Given the description of an element on the screen output the (x, y) to click on. 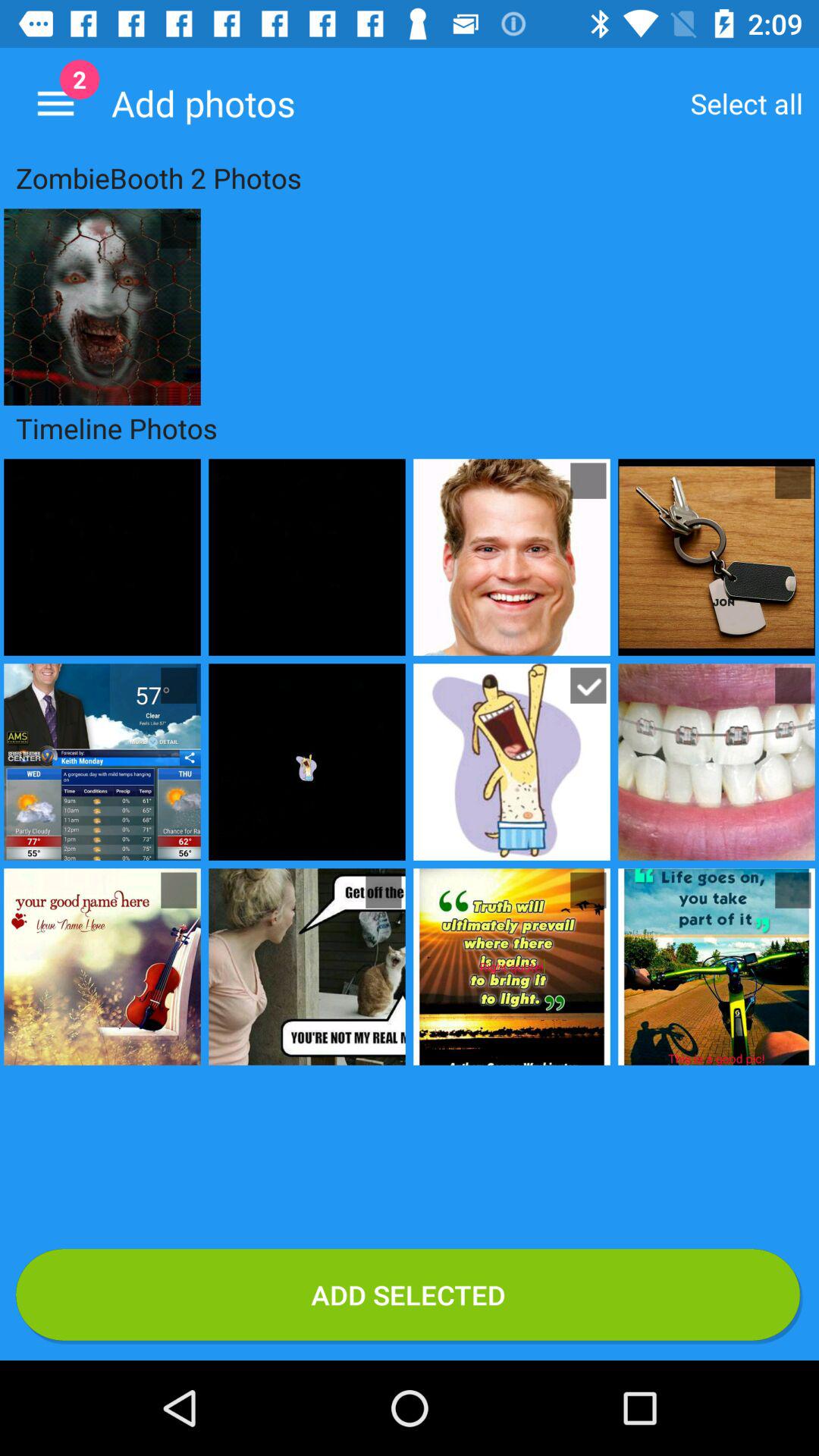
click on the selected photo in second row (588, 685)
select the second image in the last row under timeline photos (306, 966)
select the image from 1st column and 3rd row below text timeline photos (102, 966)
select the check box of image which is at third row and third column (588, 889)
select the check box on left side of third image which is below timeline photos (178, 889)
select the second image which is black in color below the timeline photos folder (306, 557)
